Given the description of an element on the screen output the (x, y) to click on. 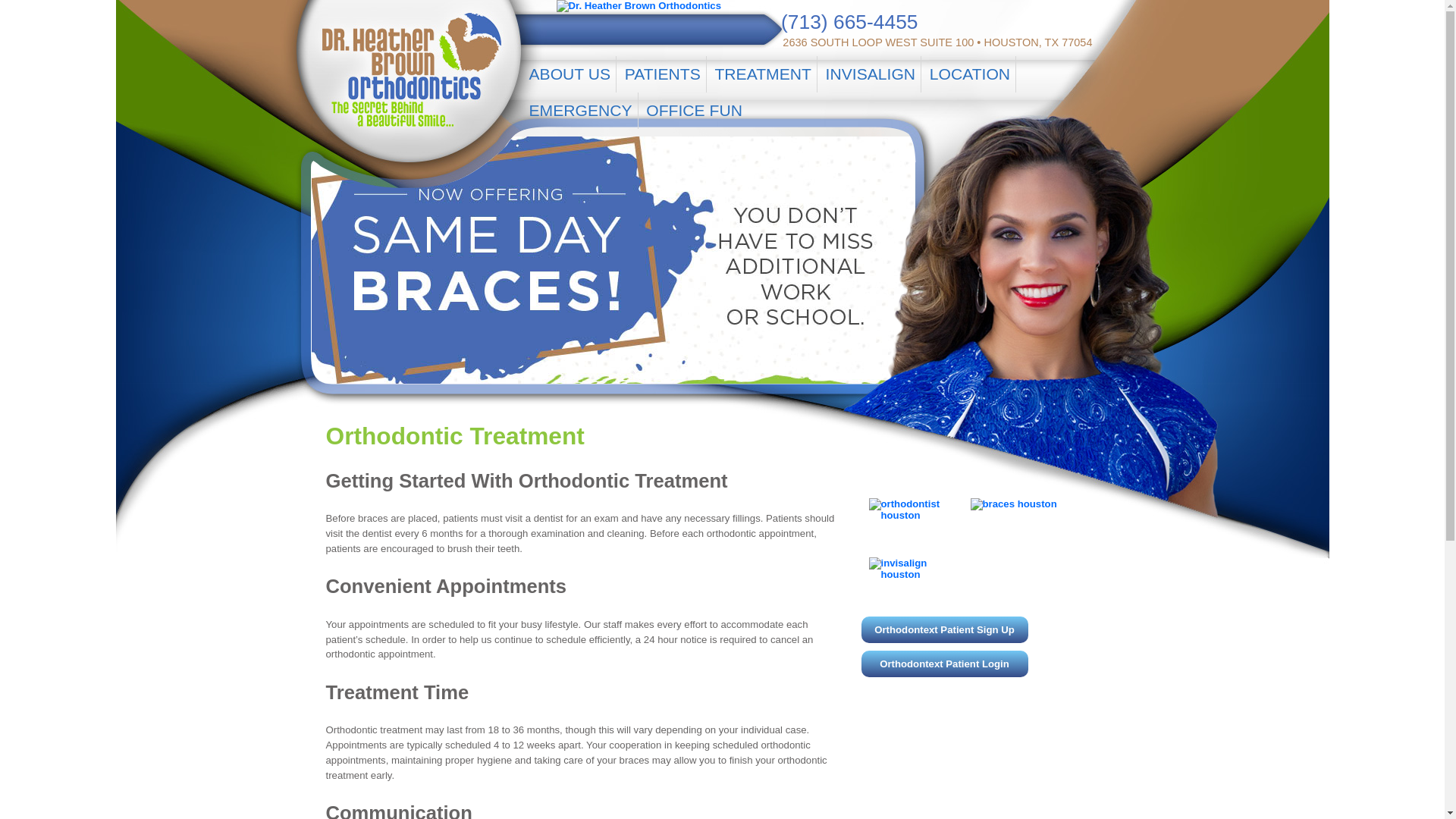
Facebook (966, 21)
Dr. Heather Brown Orthodontics (639, 6)
LOCATION (970, 74)
Blog (1081, 21)
Dr. Heather Brown Orthodontics (722, 6)
YouTube (1023, 21)
OFFICE FUN (694, 110)
Home (403, 54)
Twitter (995, 21)
ABOUT US (568, 74)
